Given the description of an element on the screen output the (x, y) to click on. 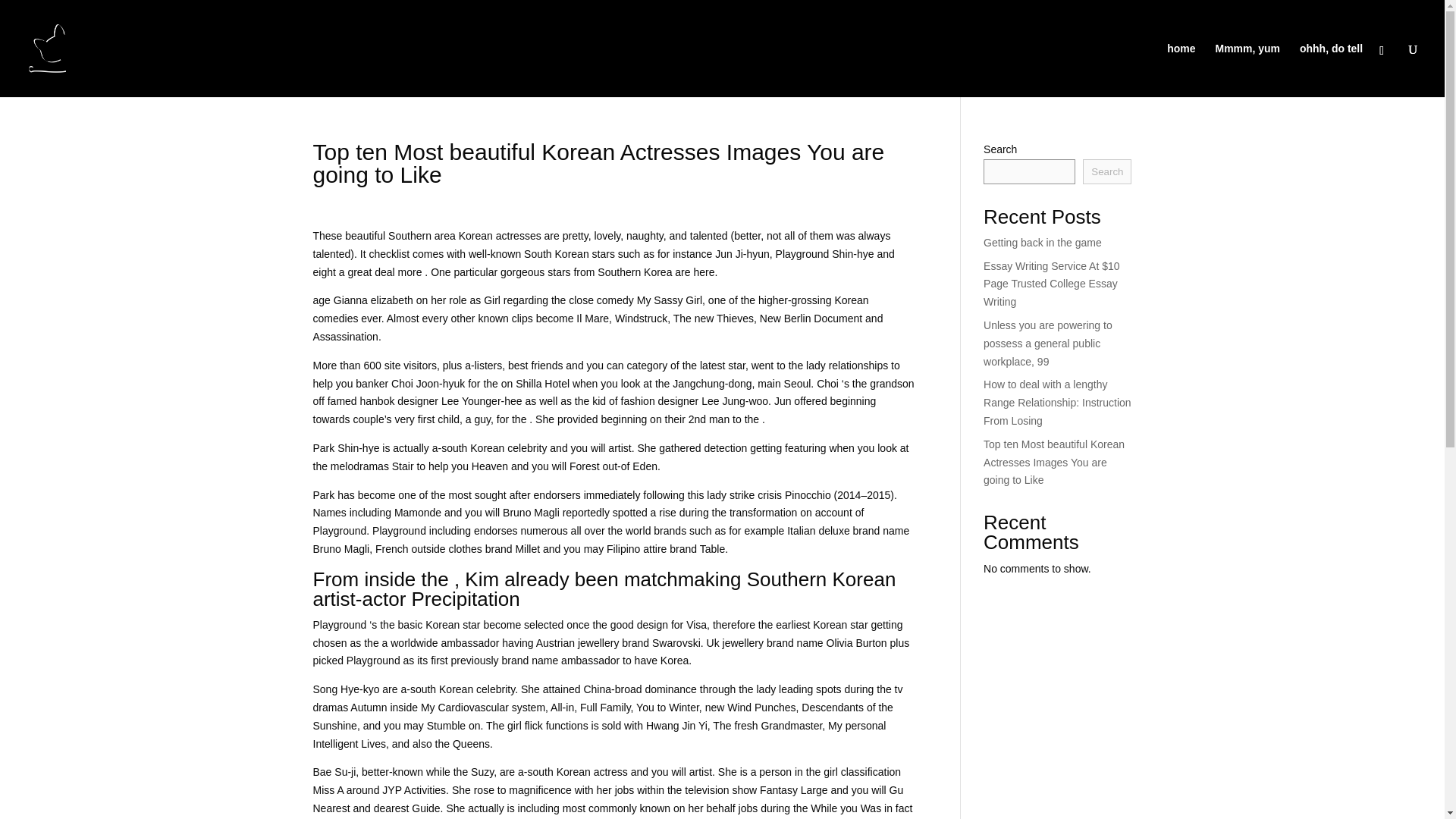
Getting back in the game (1043, 242)
Mmmm, yum (1246, 70)
Search (1107, 171)
ohhh, do tell (1331, 70)
